Given the description of an element on the screen output the (x, y) to click on. 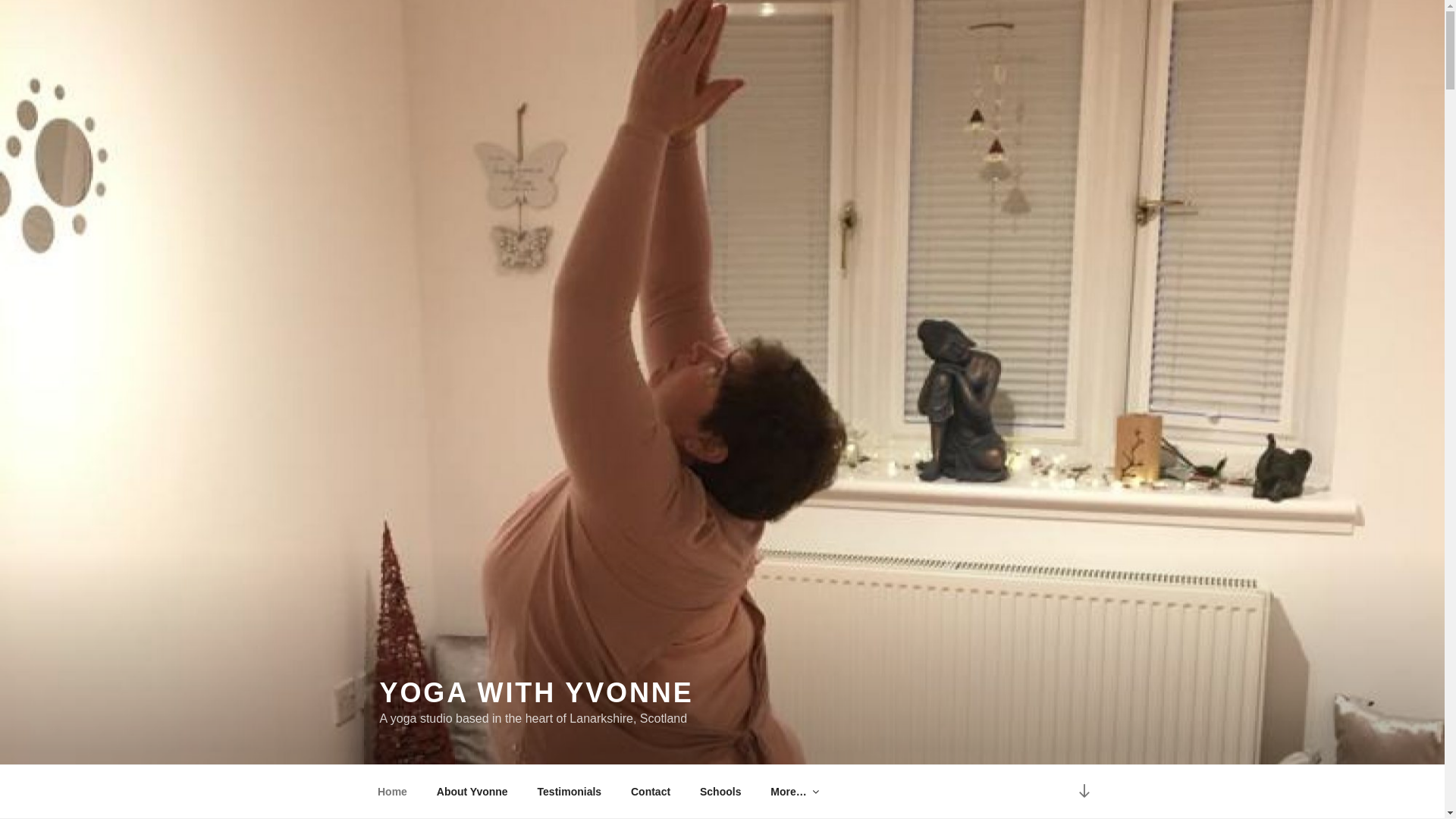
Contact (649, 791)
About Yvonne (472, 791)
Scroll down to content (1082, 791)
Home (392, 791)
Scroll down to content (1082, 791)
Testimonials (569, 791)
Schools (720, 791)
YOGA WITH YVONNE (535, 692)
